Given the description of an element on the screen output the (x, y) to click on. 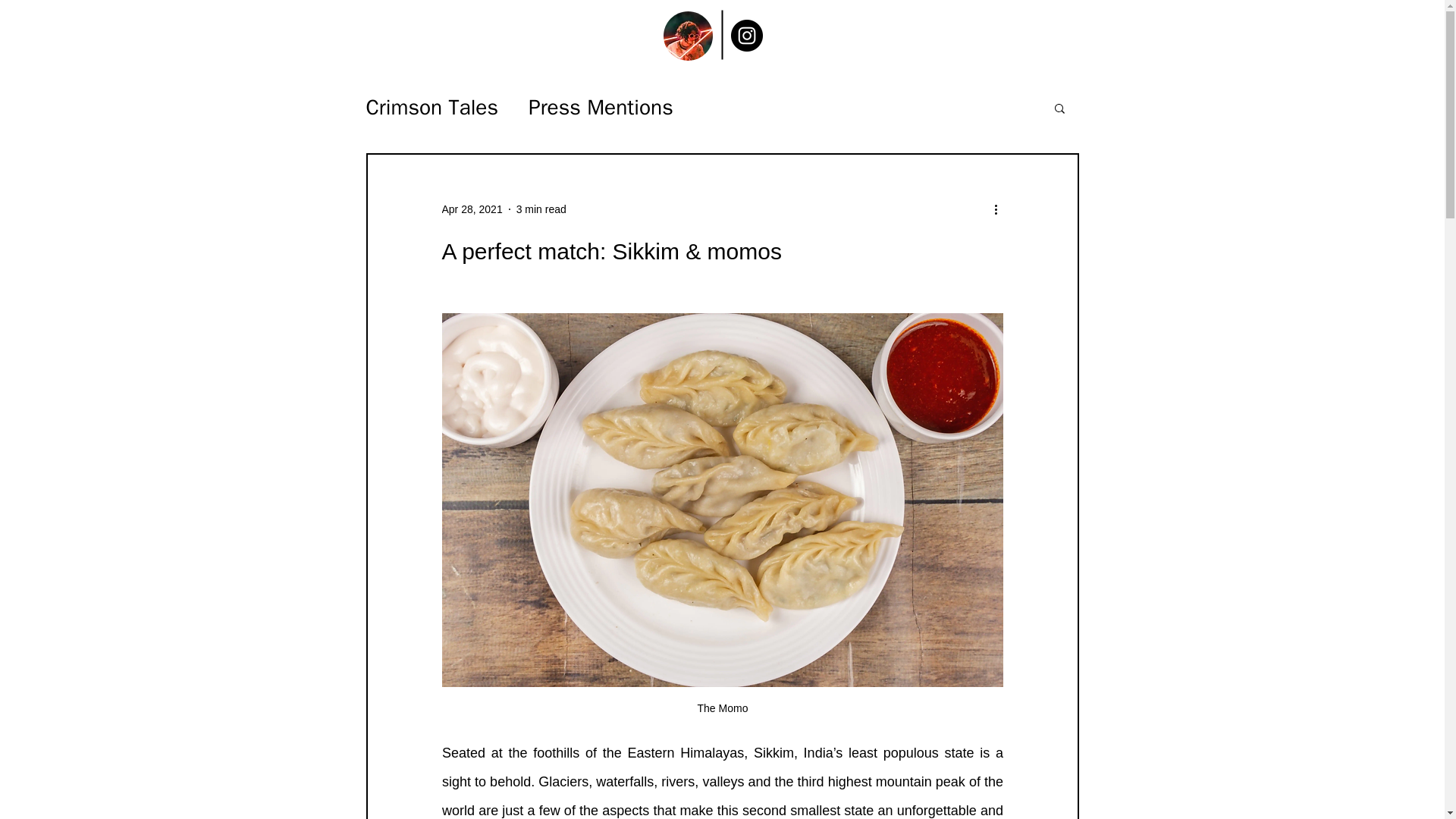
Press Mentions (600, 107)
3 min read (541, 209)
Crimson Tales (431, 107)
Apr 28, 2021 (471, 209)
